Given the description of an element on the screen output the (x, y) to click on. 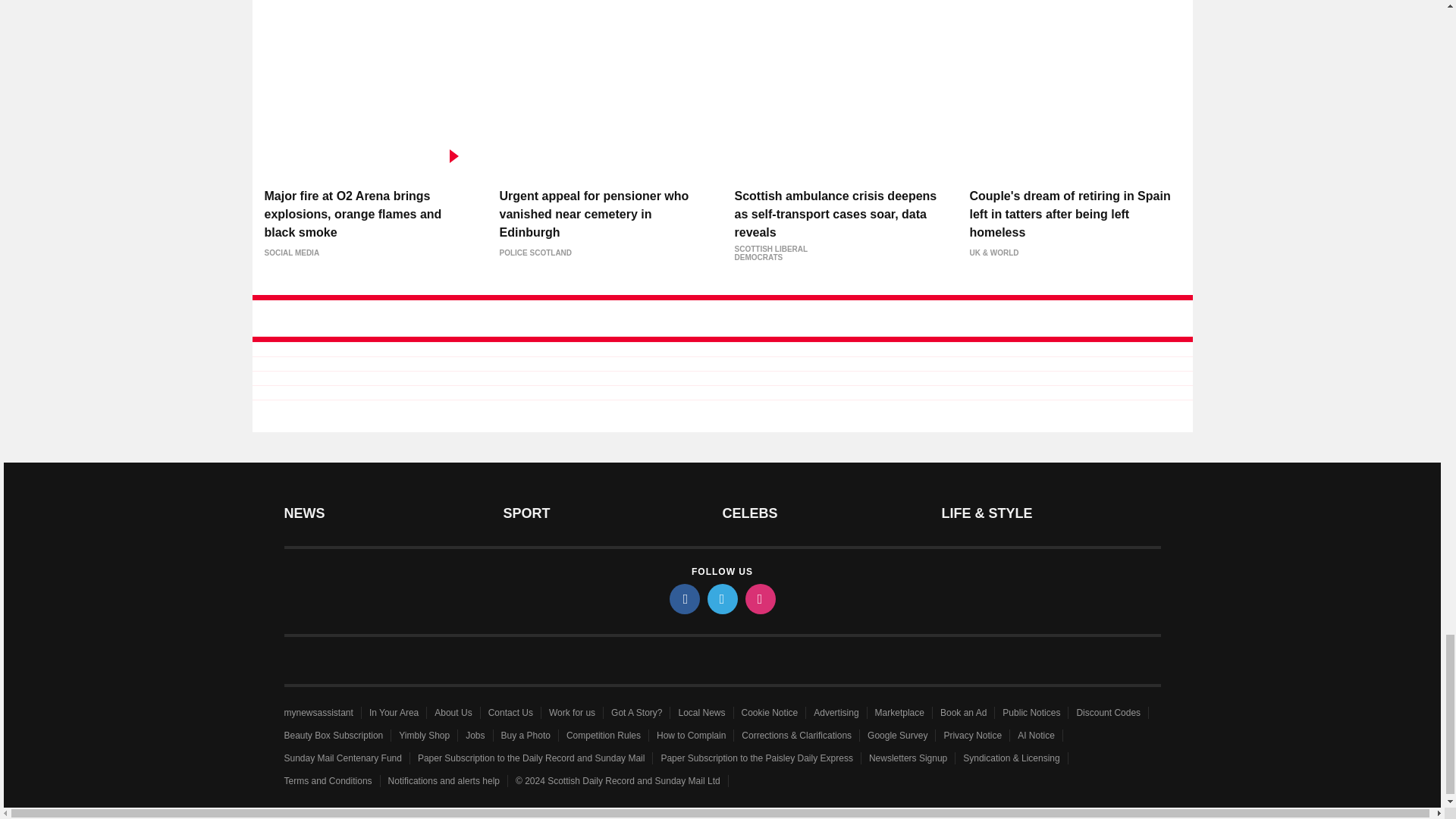
twitter (721, 598)
instagram (759, 598)
facebook (683, 598)
